Given the description of an element on the screen output the (x, y) to click on. 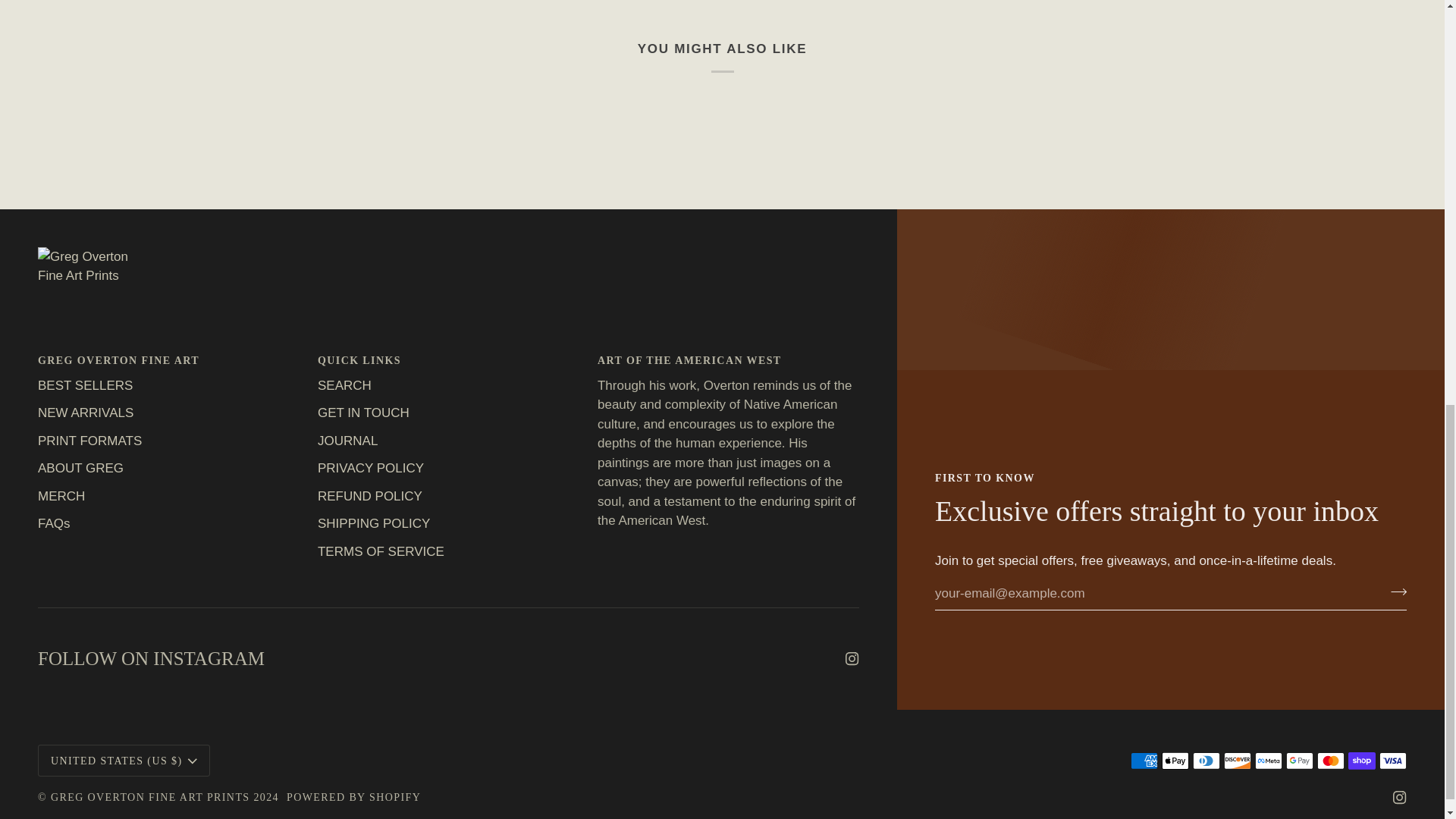
MASTERCARD (1330, 760)
AMERICAN EXPRESS (1144, 760)
GOOGLE PAY (1299, 760)
APPLE PAY (1175, 760)
DISCOVER (1237, 760)
Instagram (852, 658)
SHOP PAY (1361, 760)
DINERS CLUB (1206, 760)
VISA (1392, 760)
META PAY (1268, 760)
